Given the description of an element on the screen output the (x, y) to click on. 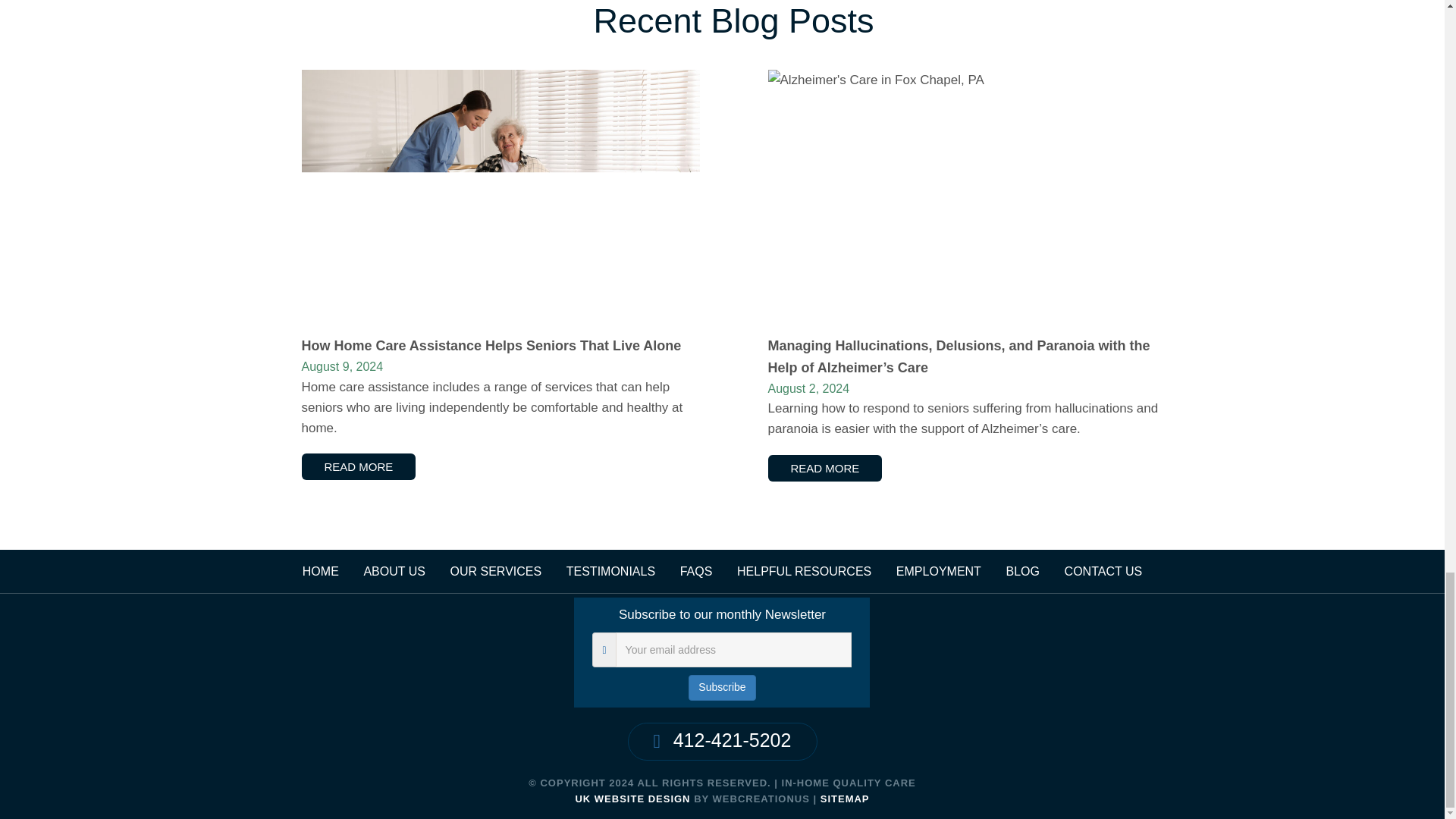
ABOUT US (393, 571)
Subscribe (721, 687)
TESTIMONIALS (610, 571)
BLOG (1022, 571)
FAQS (696, 571)
HELPFUL RESOURCES (803, 571)
412-421-5202 (722, 740)
HOME (320, 571)
EMPLOYMENT (938, 571)
CONTACT US (1103, 571)
